Given the description of an element on the screen output the (x, y) to click on. 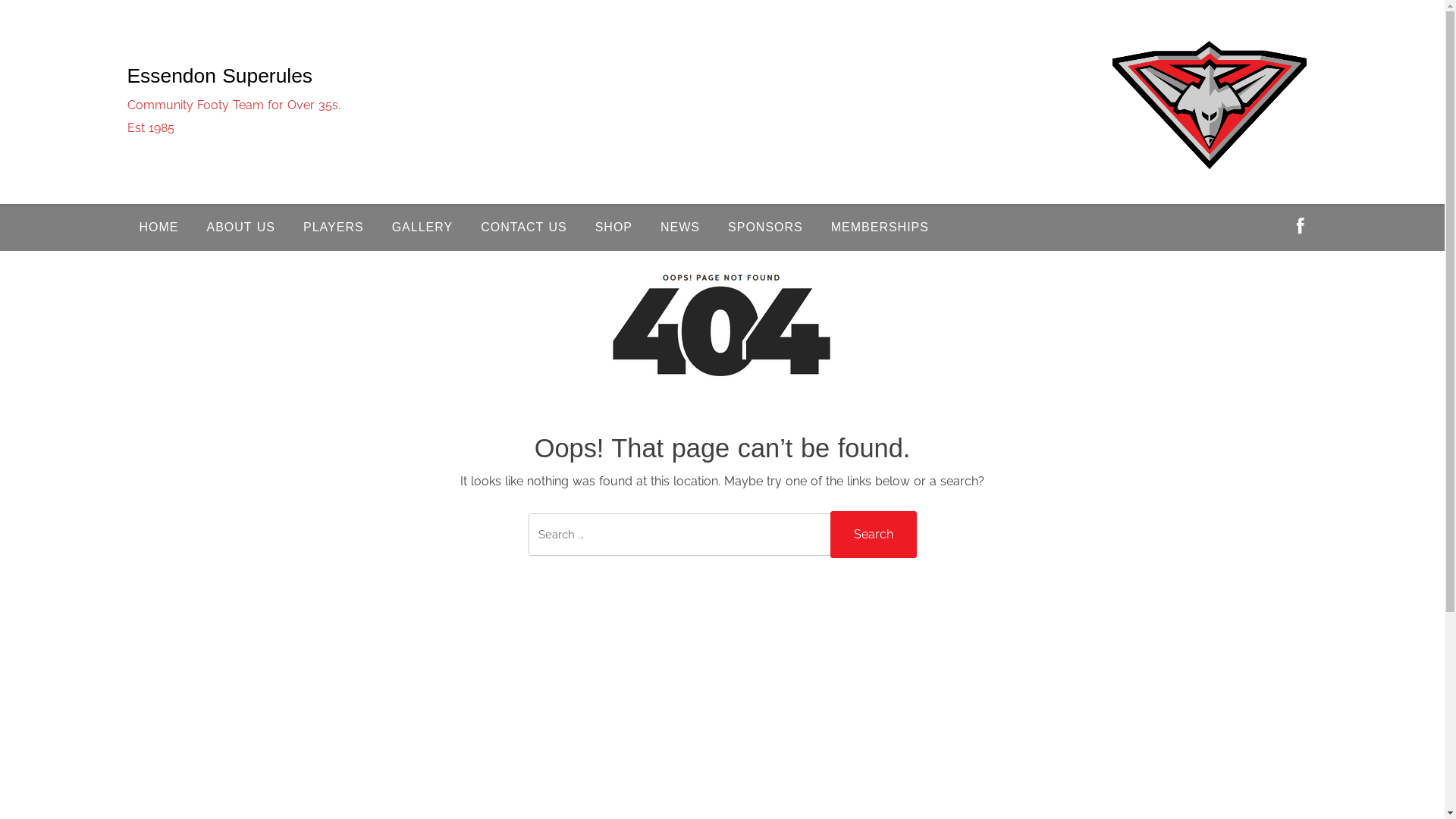
CONTACT US Element type: text (523, 227)
Search Element type: text (872, 534)
SHOP Element type: text (613, 227)
HOME Element type: text (159, 227)
GALLERY Element type: text (422, 227)
NEWS Element type: text (680, 227)
PLAYERS Element type: text (333, 227)
Essendon Superules Element type: text (220, 75)
MEMBERSHIPS Element type: text (880, 227)
ABOUT US Element type: text (240, 227)
SPONSORS Element type: text (765, 227)
